Given the description of an element on the screen output the (x, y) to click on. 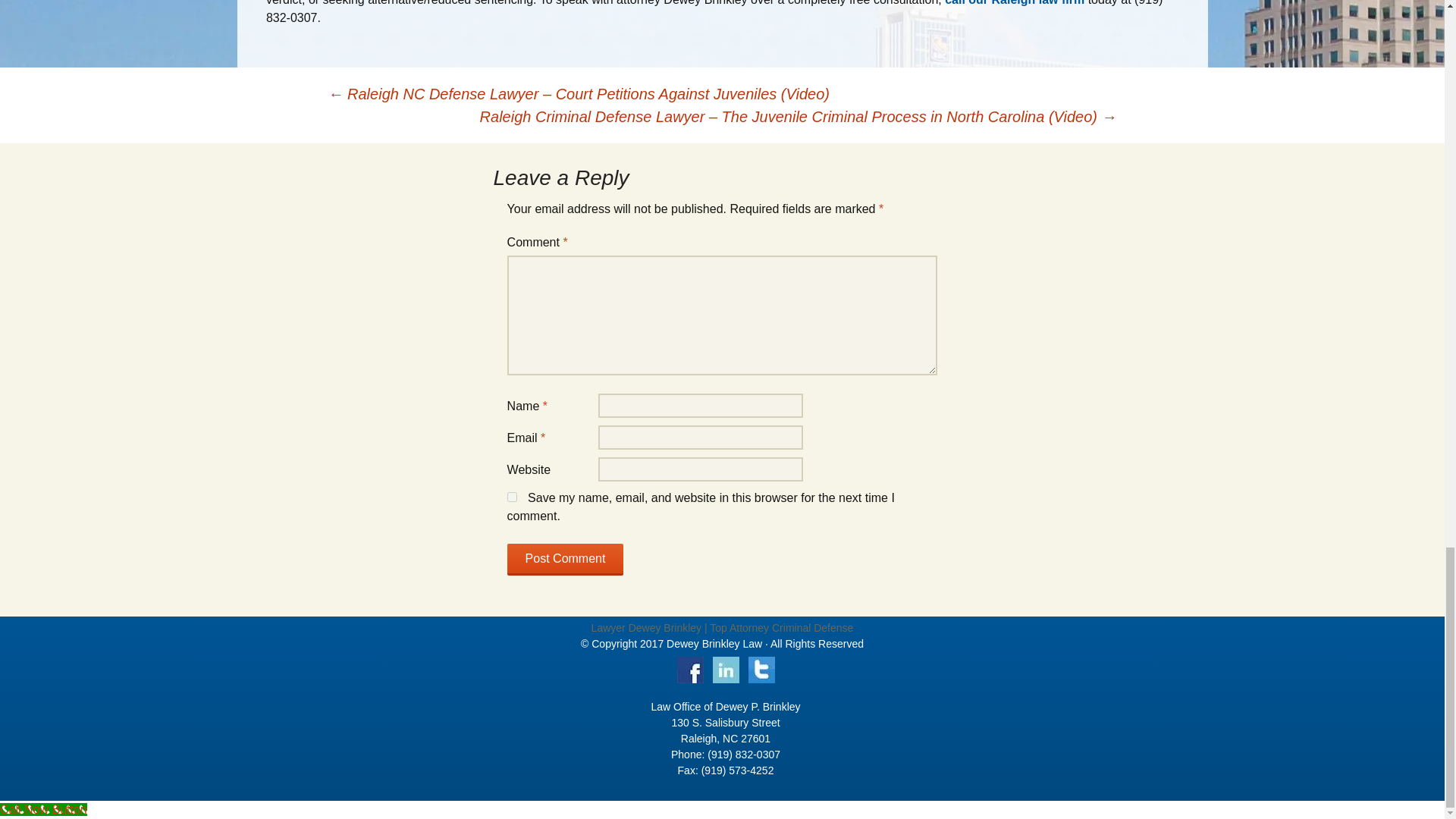
Post Comment (565, 559)
yes (511, 497)
